Given the description of an element on the screen output the (x, y) to click on. 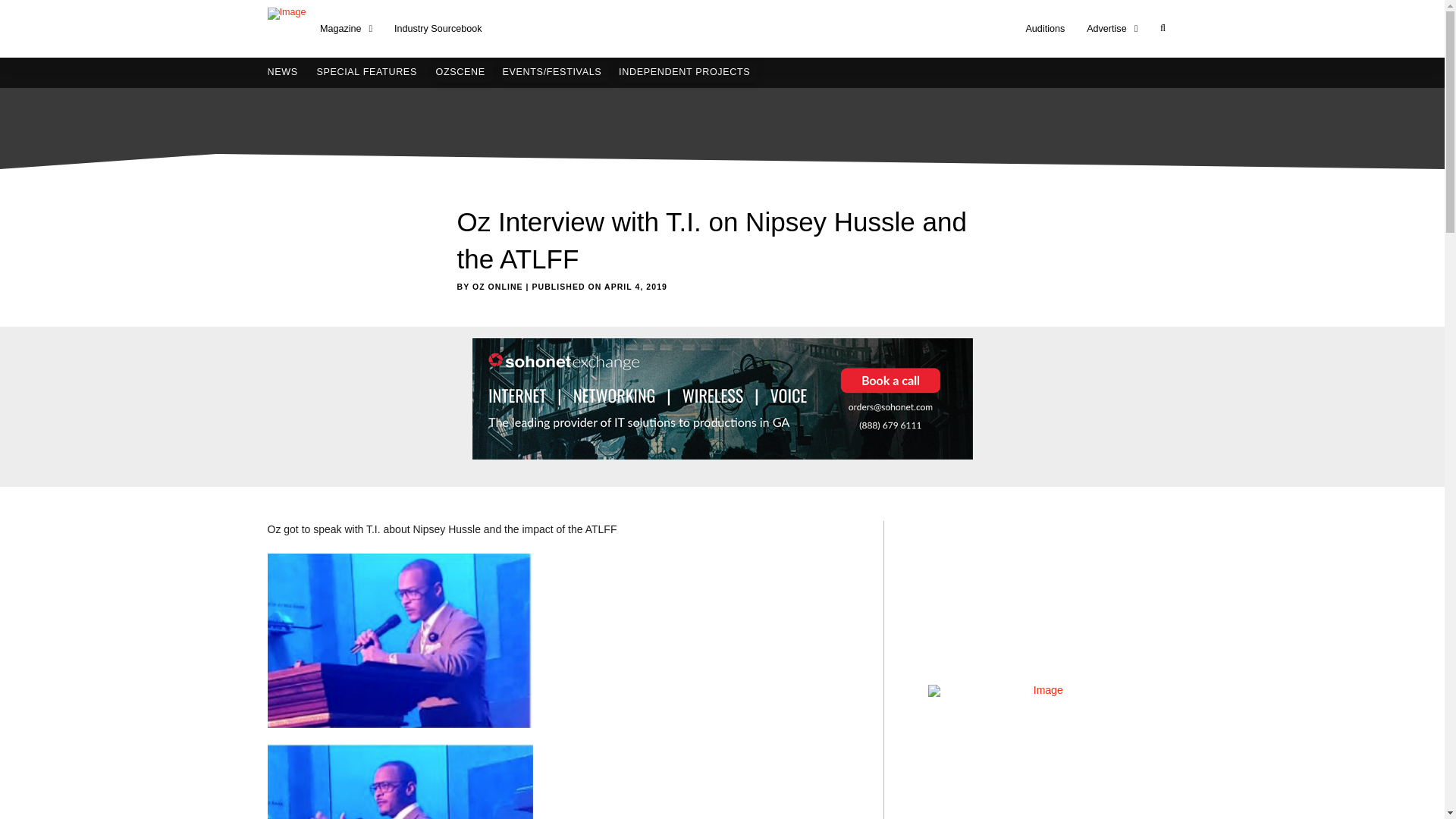
Auditions (1044, 28)
YouTube video player (1042, 596)
Industry Sourcebook (438, 28)
Advertise (1111, 28)
INDEPENDENT PROJECTS (687, 72)
Magazine (346, 28)
OZSCENE (463, 72)
